Given the description of an element on the screen output the (x, y) to click on. 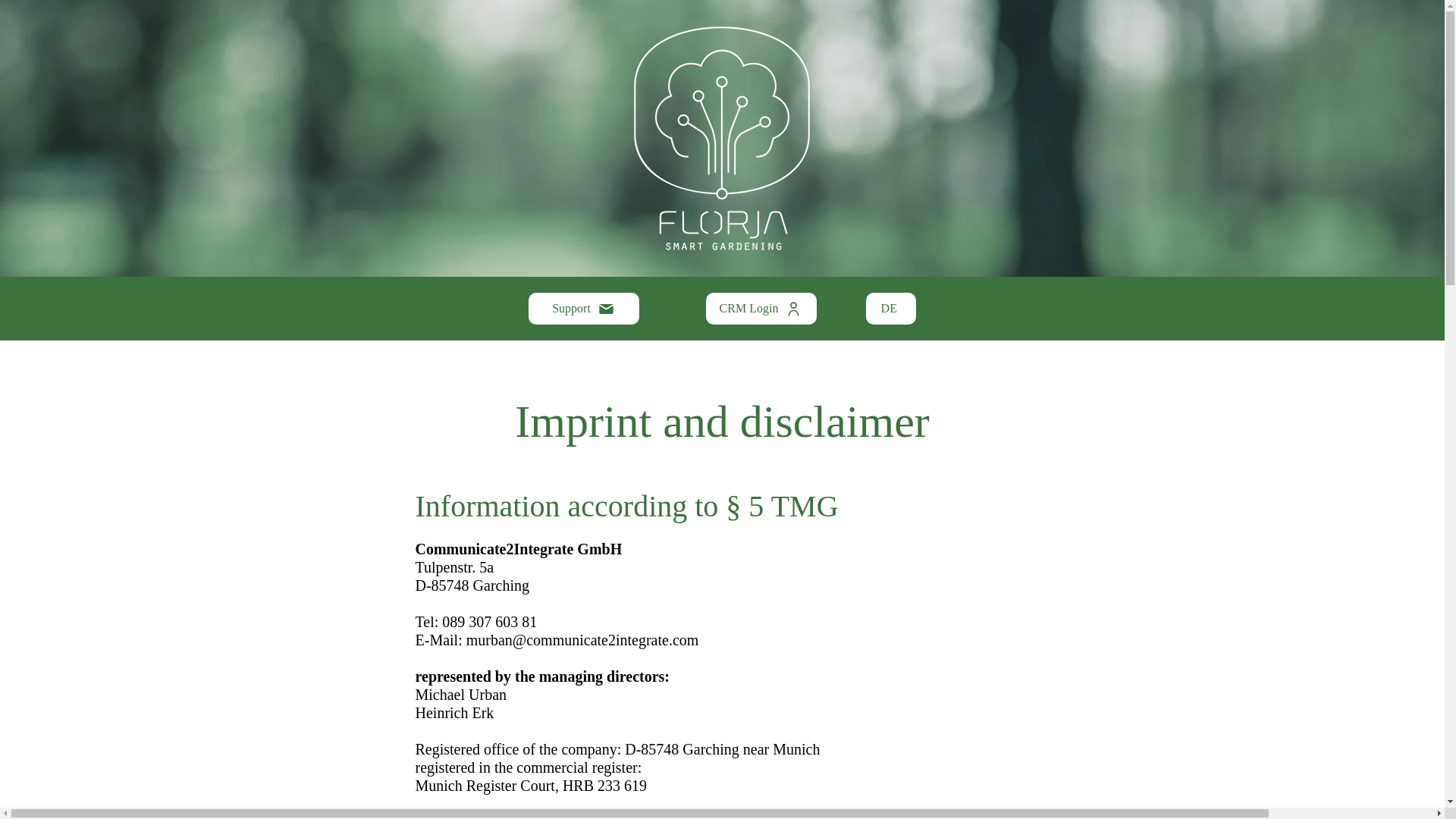
Support (583, 308)
DE (890, 308)
CRM Login (759, 308)
